Given the description of an element on the screen output the (x, y) to click on. 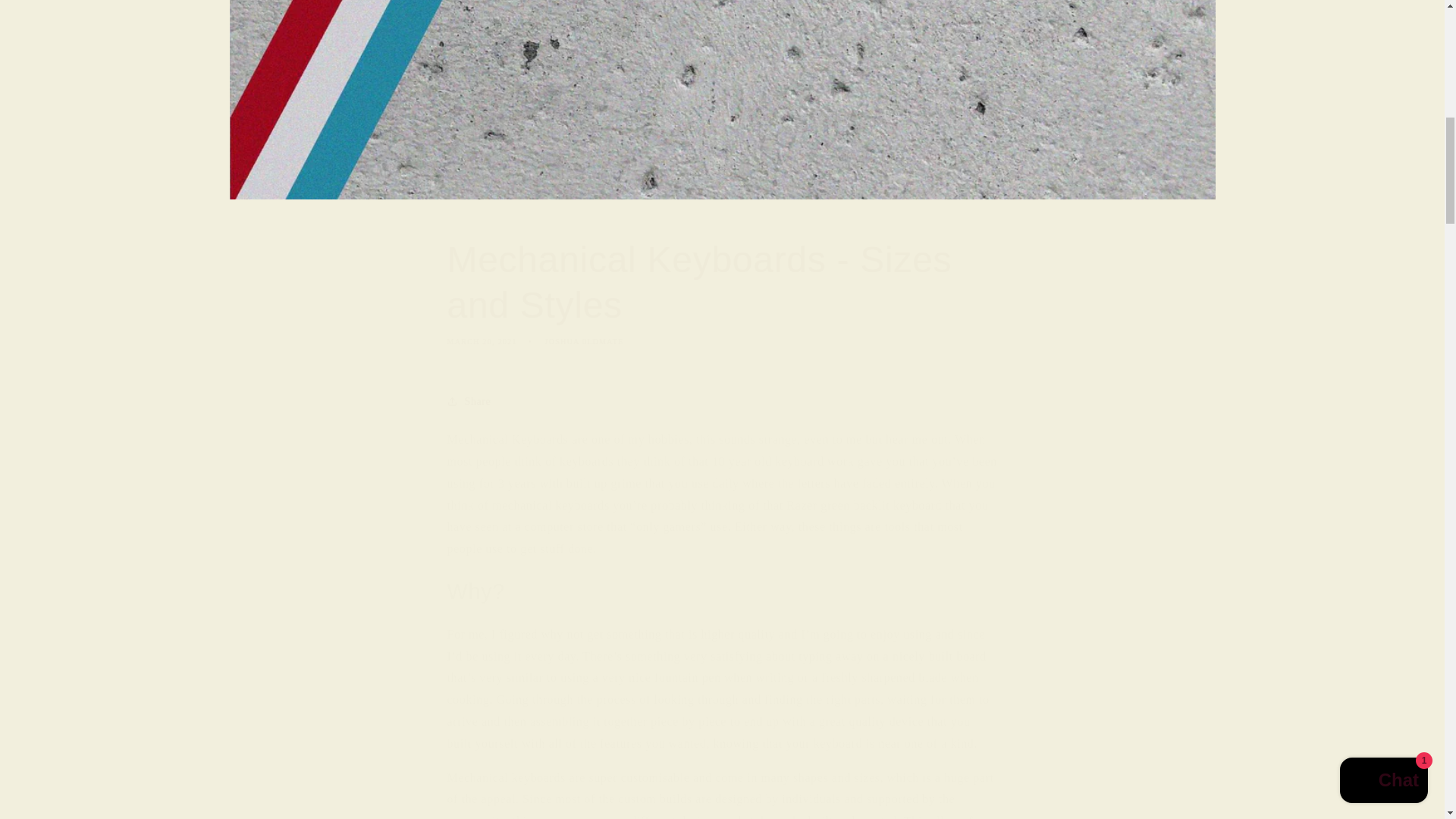
Share (721, 400)
